Given the description of an element on the screen output the (x, y) to click on. 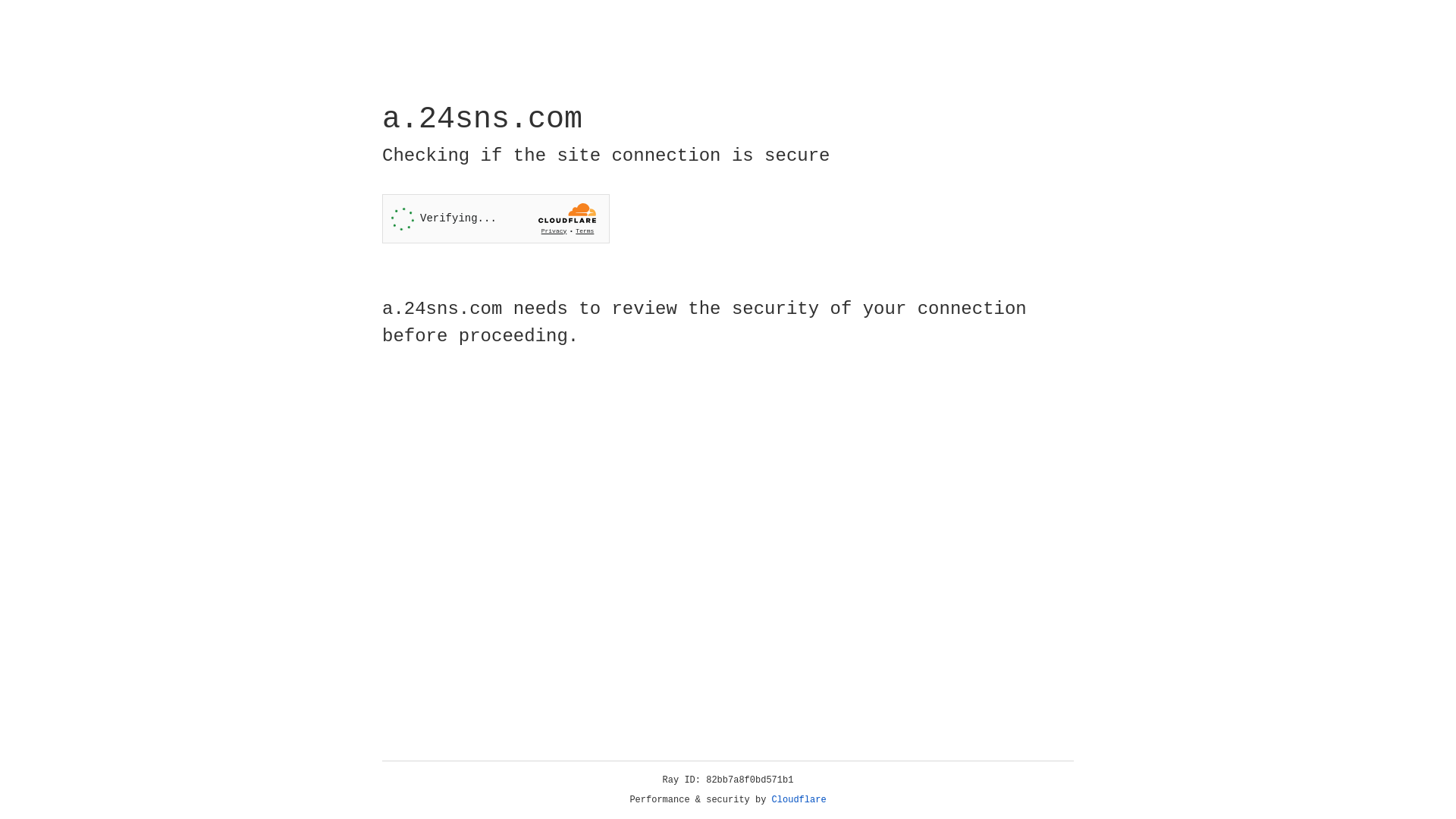
Widget containing a Cloudflare security challenge Element type: hover (495, 218)
Cloudflare Element type: text (798, 799)
